Given the description of an element on the screen output the (x, y) to click on. 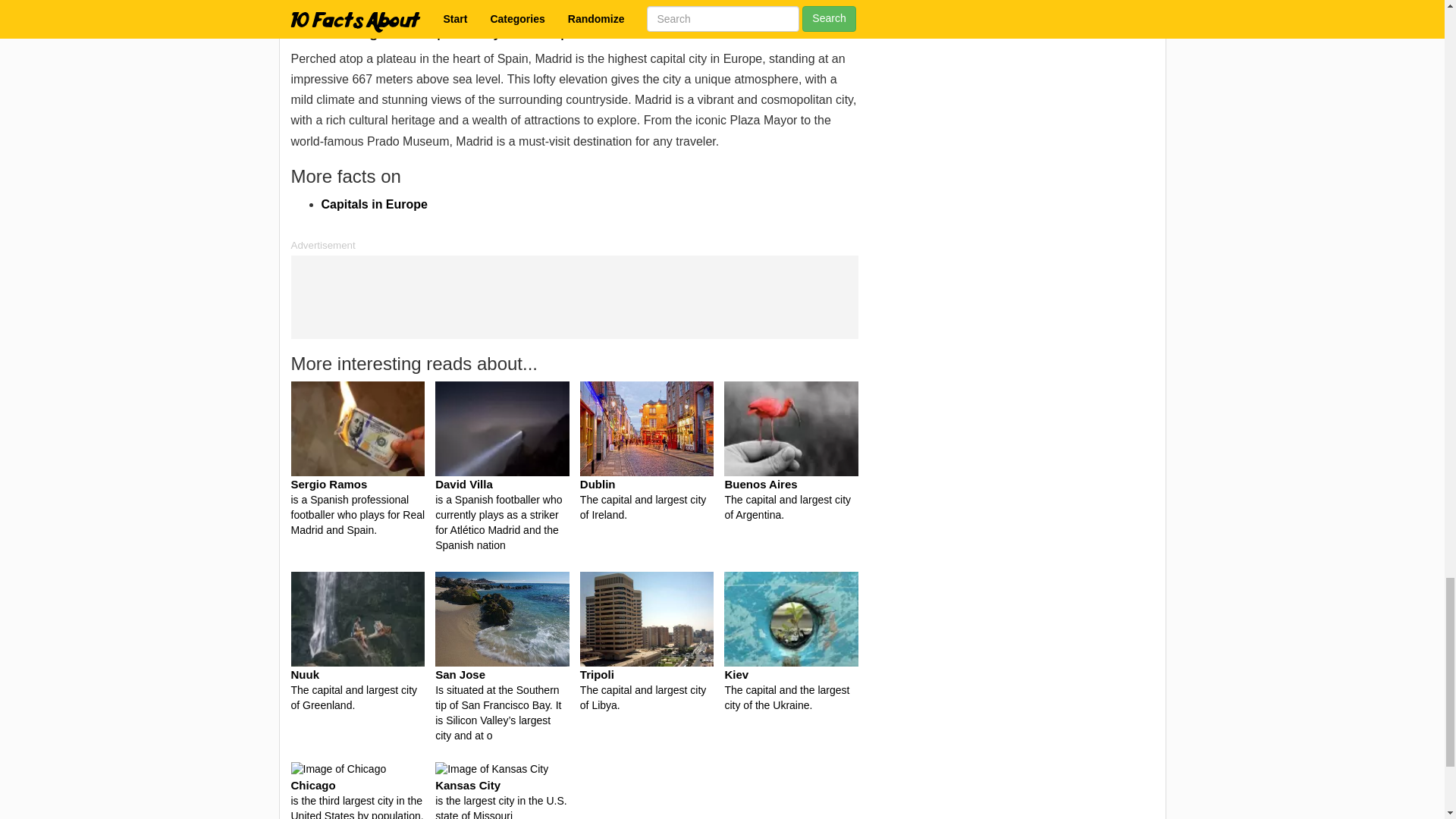
Capitals in Europe (374, 204)
